Given the description of an element on the screen output the (x, y) to click on. 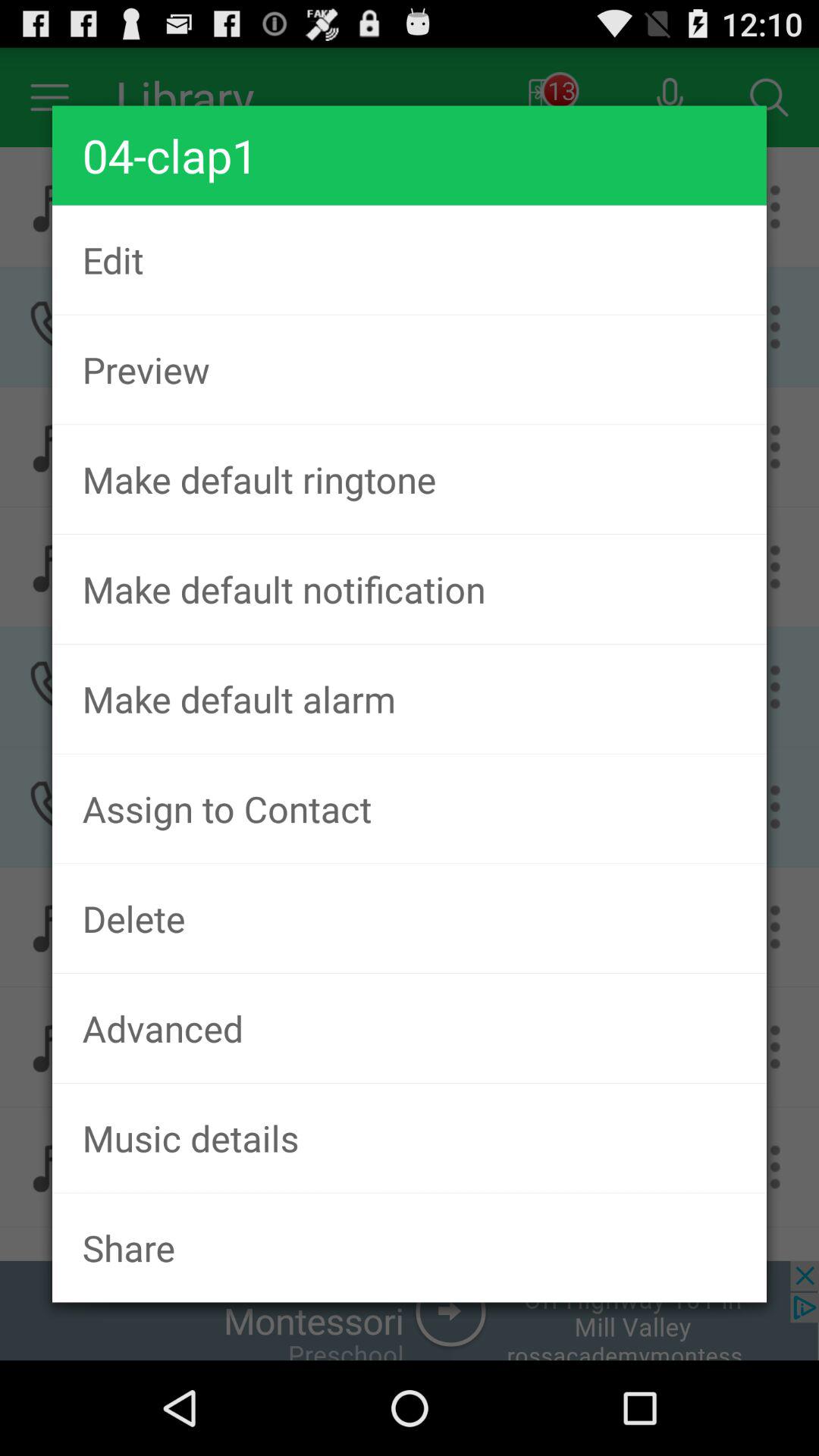
tap advanced app (409, 1027)
